Given the description of an element on the screen output the (x, y) to click on. 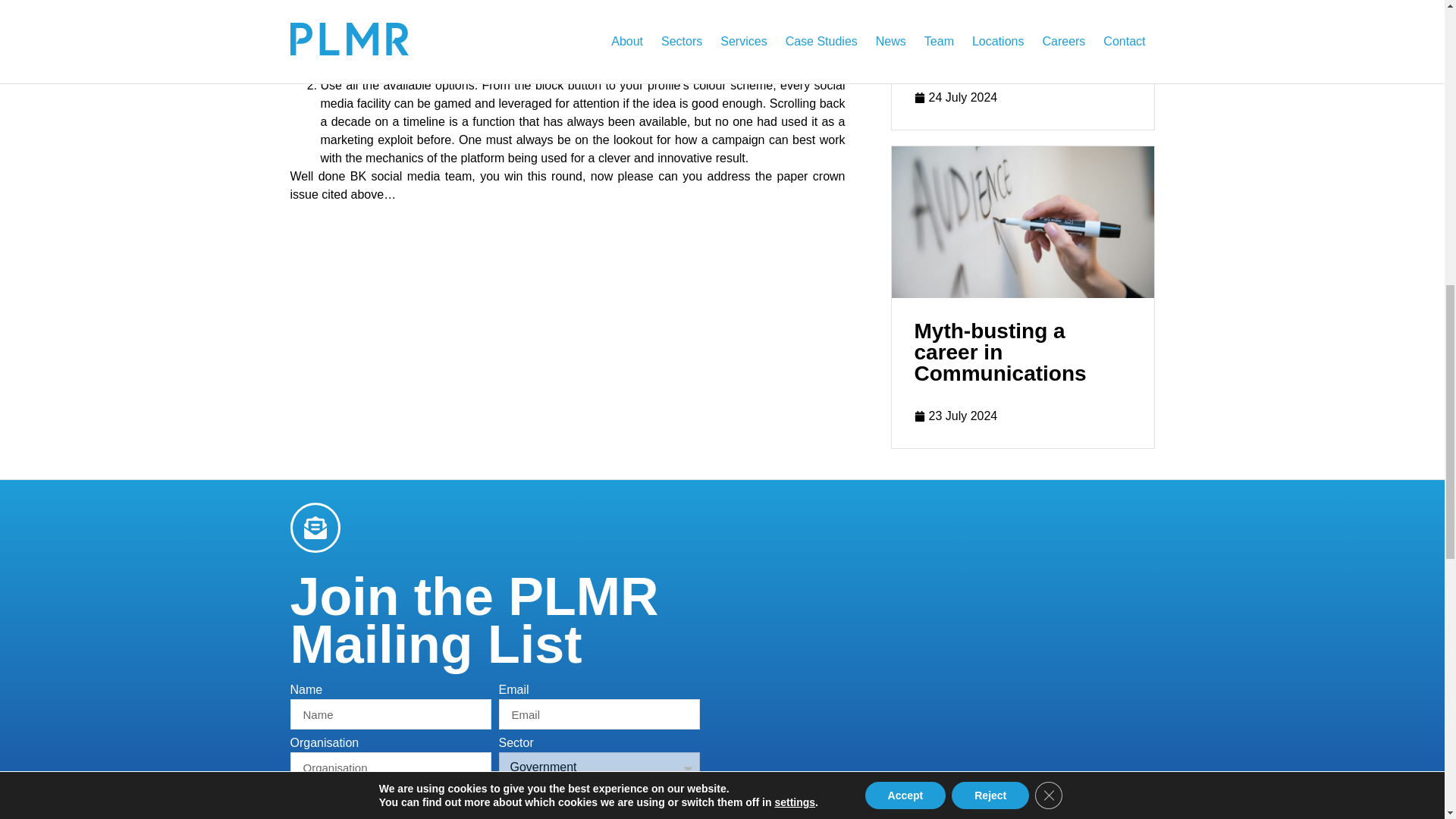
on (294, 798)
